Given the description of an element on the screen output the (x, y) to click on. 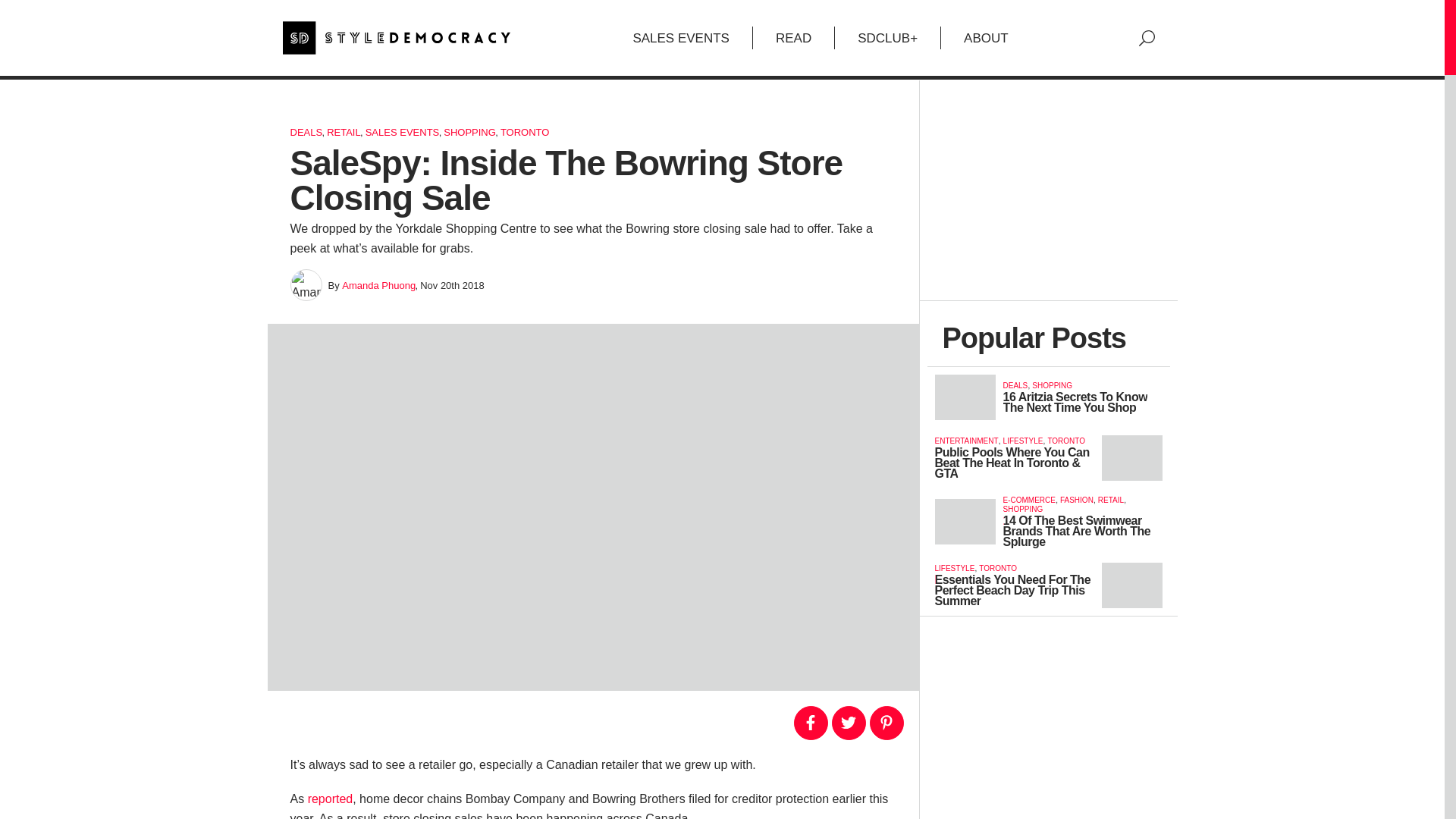
StyleDemocracy (395, 38)
READ (793, 37)
VIEW TORONTO CATEGORY (525, 132)
View Author Posts (378, 285)
VIEW DEALS CATEGORY (305, 132)
ABOUT (985, 37)
SALES EVENTS (681, 37)
By Amanda Phuong (305, 285)
VIEW RETAIL CATEGORY (343, 132)
VIEW SALES EVENTS CATEGORY (402, 132)
reported (330, 798)
VIEW SHOPPING CATEGORY (470, 132)
StyleDemocracy (395, 38)
